Given the description of an element on the screen output the (x, y) to click on. 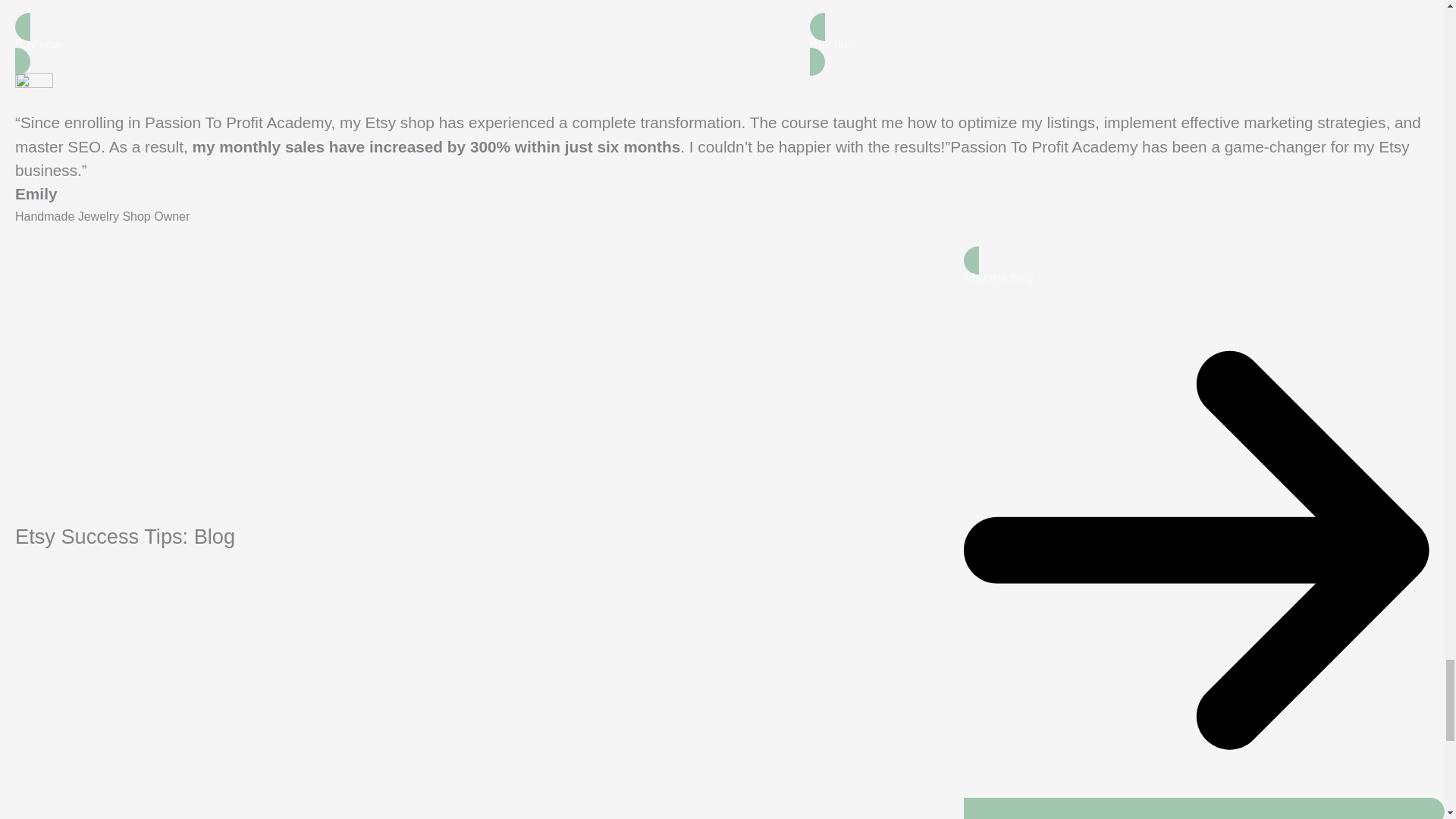
Buy now (403, 44)
